Given the description of an element on the screen output the (x, y) to click on. 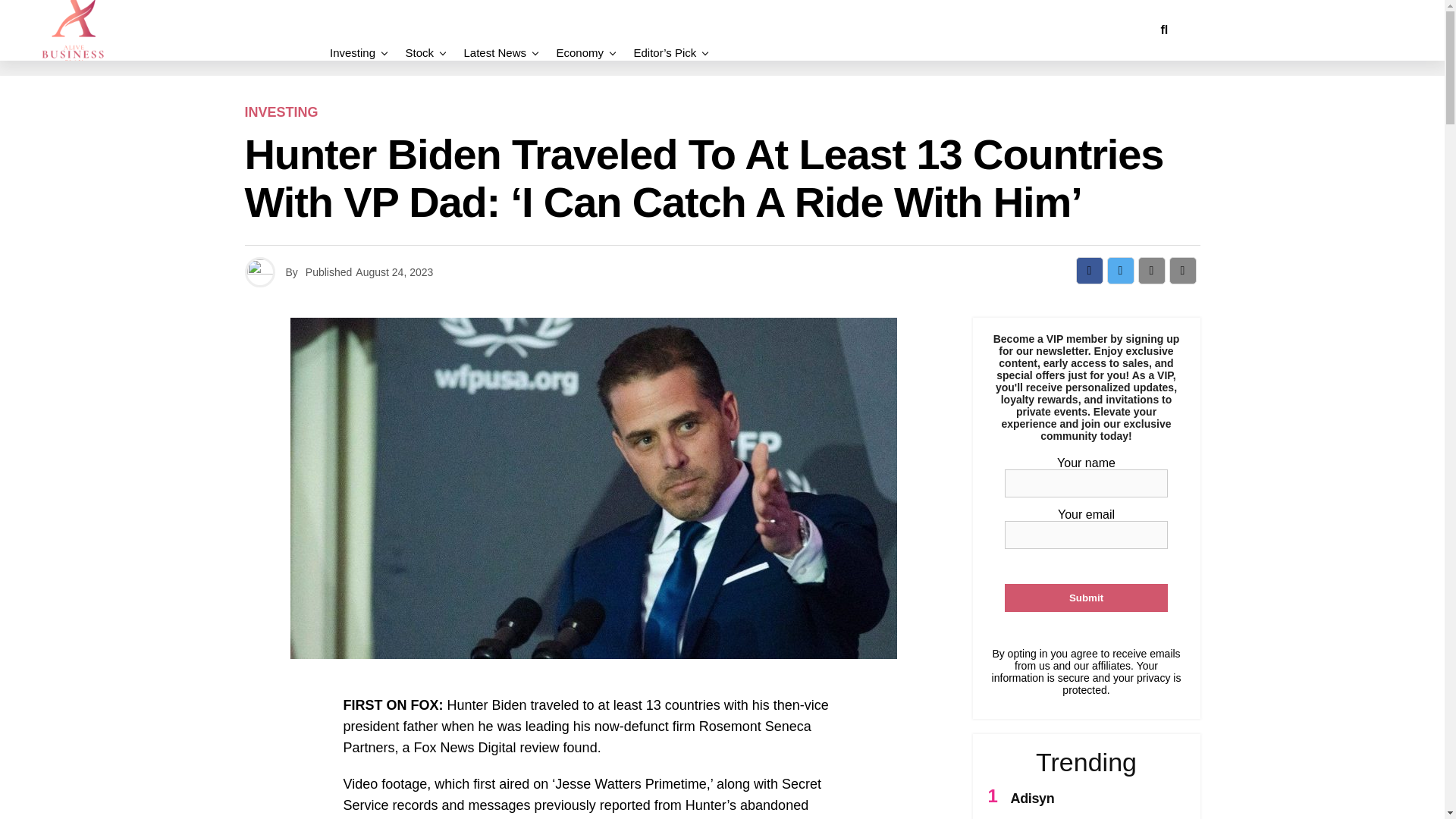
INVESTING (280, 112)
Tweet This Post (1120, 270)
Submit (1085, 597)
Economy (579, 52)
Latest News (494, 52)
Investing (356, 52)
Share on Facebook (1088, 270)
